Given the description of an element on the screen output the (x, y) to click on. 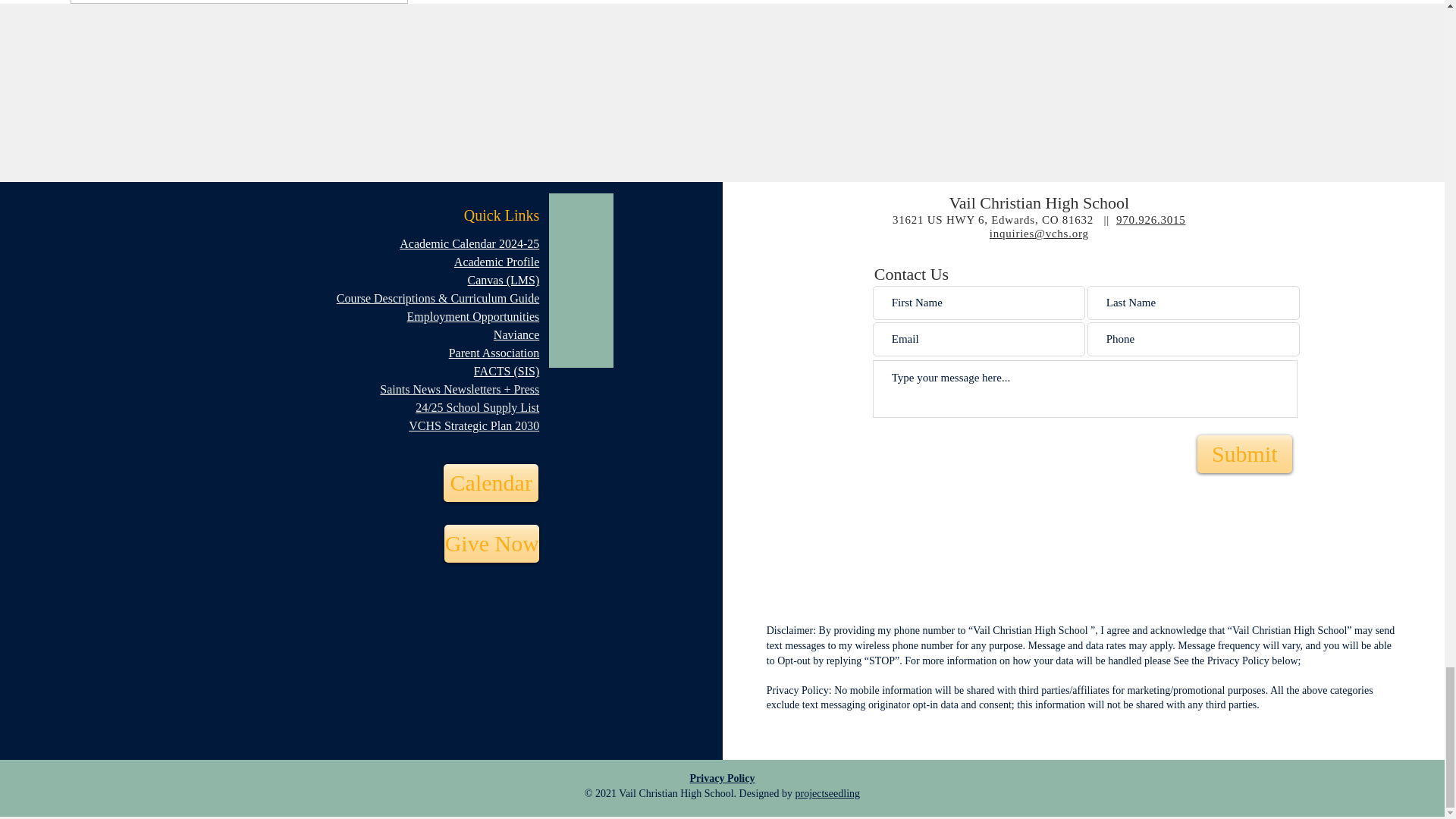
VCHS Strategic Plan 2030 (473, 425)
Parent Association (494, 352)
Academic Calendar 2024-25 (468, 243)
Employment Opportunities (473, 316)
Calendar (491, 483)
Naviance (515, 334)
Academic Profile (496, 261)
